Given the description of an element on the screen output the (x, y) to click on. 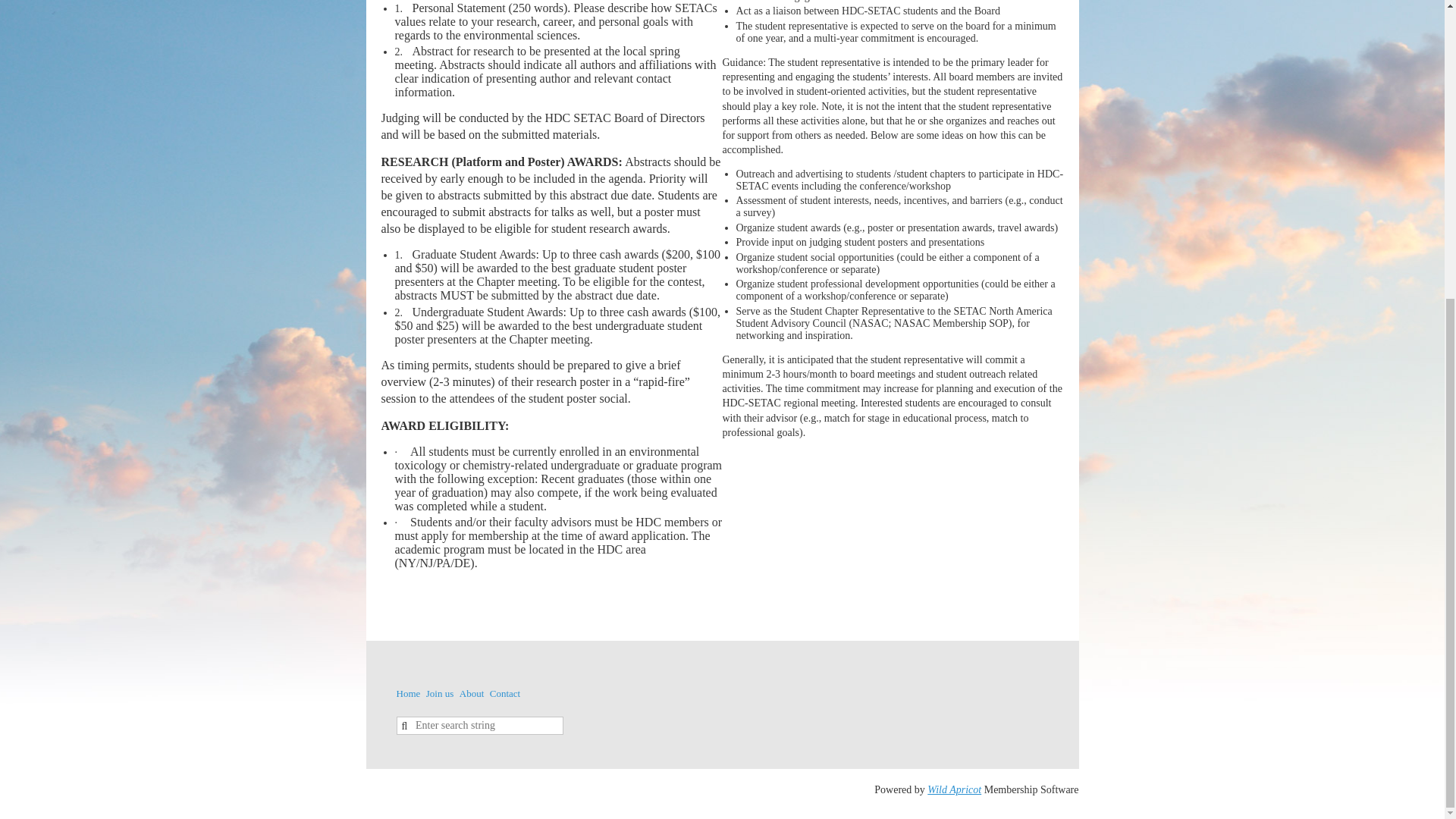
Wild Apricot (954, 789)
Home (408, 693)
About (472, 693)
Join us (439, 693)
Contact (504, 693)
